Given the description of an element on the screen output the (x, y) to click on. 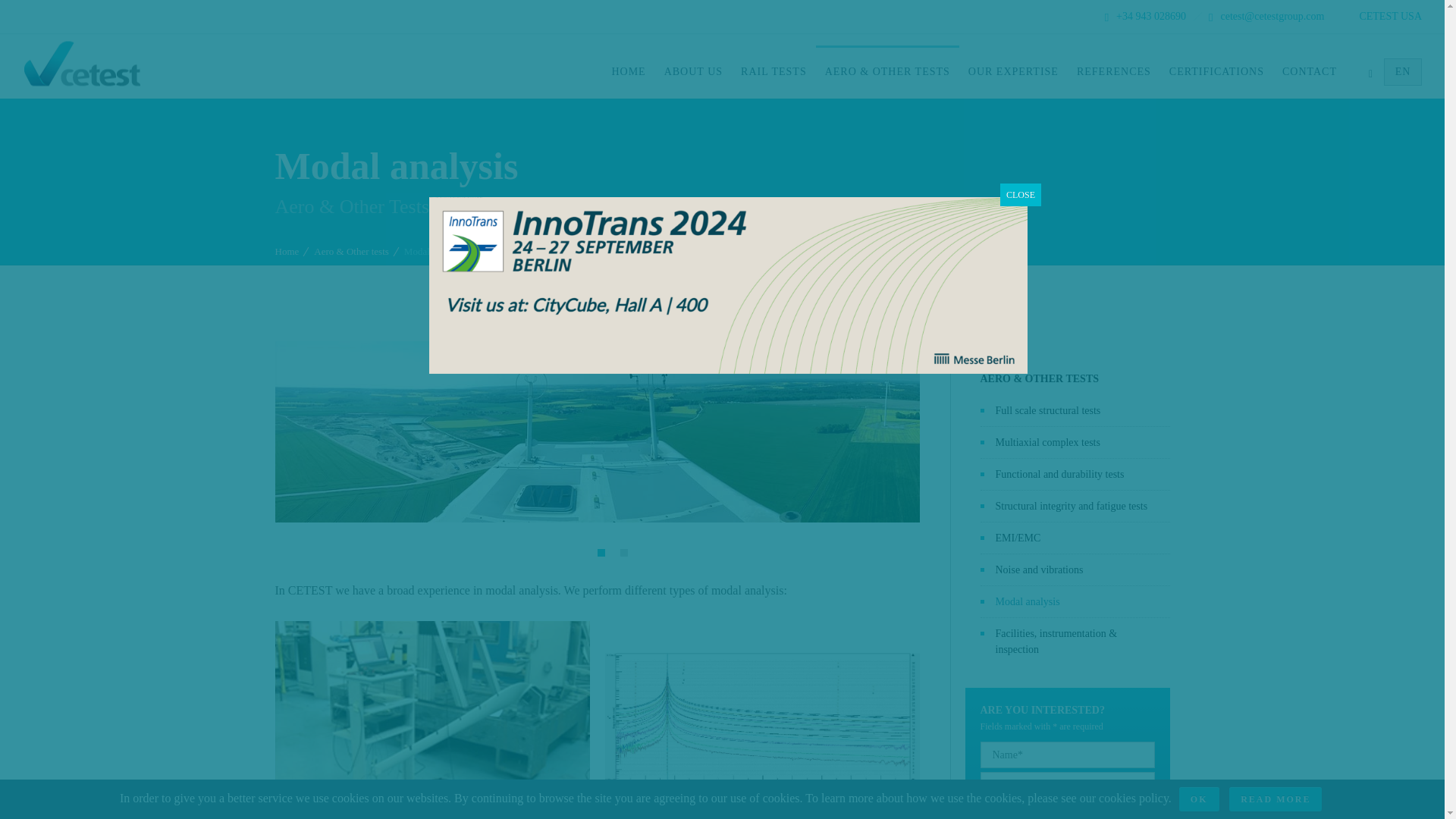
CETEST USA (1377, 16)
EN (1403, 71)
HOME (627, 71)
ABOUT US (693, 71)
RAIL TESTS (773, 71)
